Given the description of an element on the screen output the (x, y) to click on. 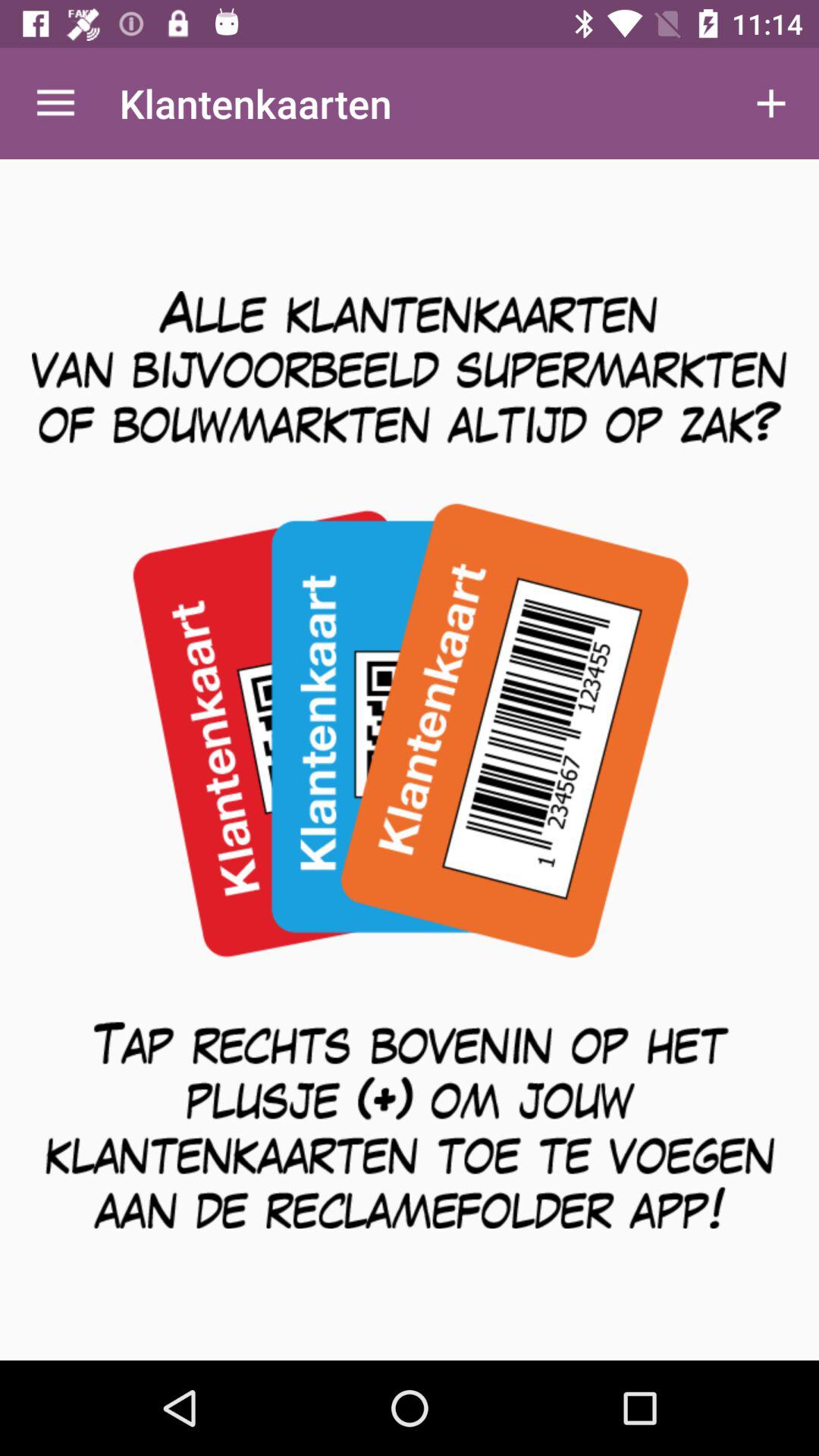
click app to the right of the klantenkaarten (771, 103)
